Given the description of an element on the screen output the (x, y) to click on. 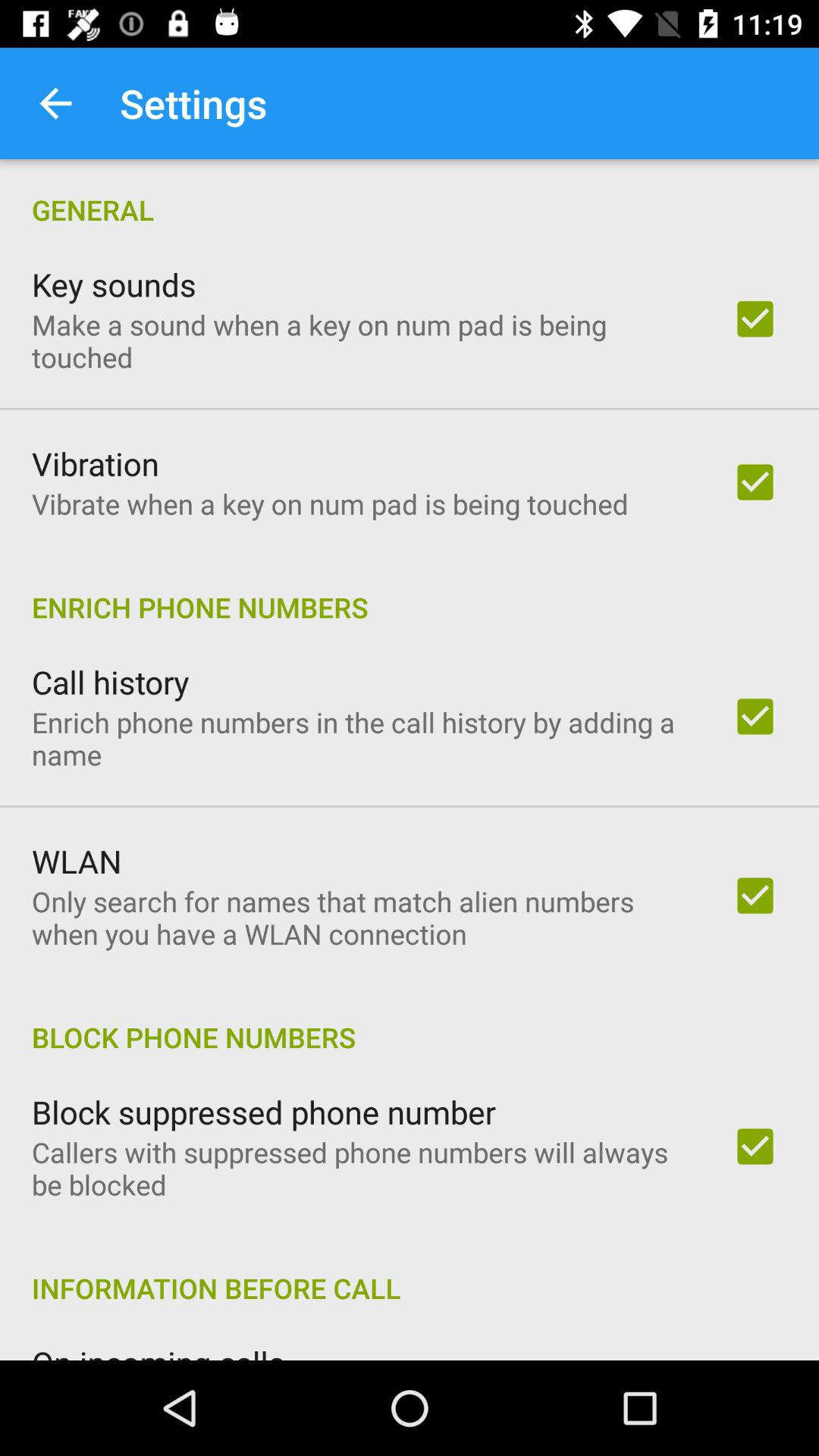
click the item above the block phone numbers (361, 917)
